Given the description of an element on the screen output the (x, y) to click on. 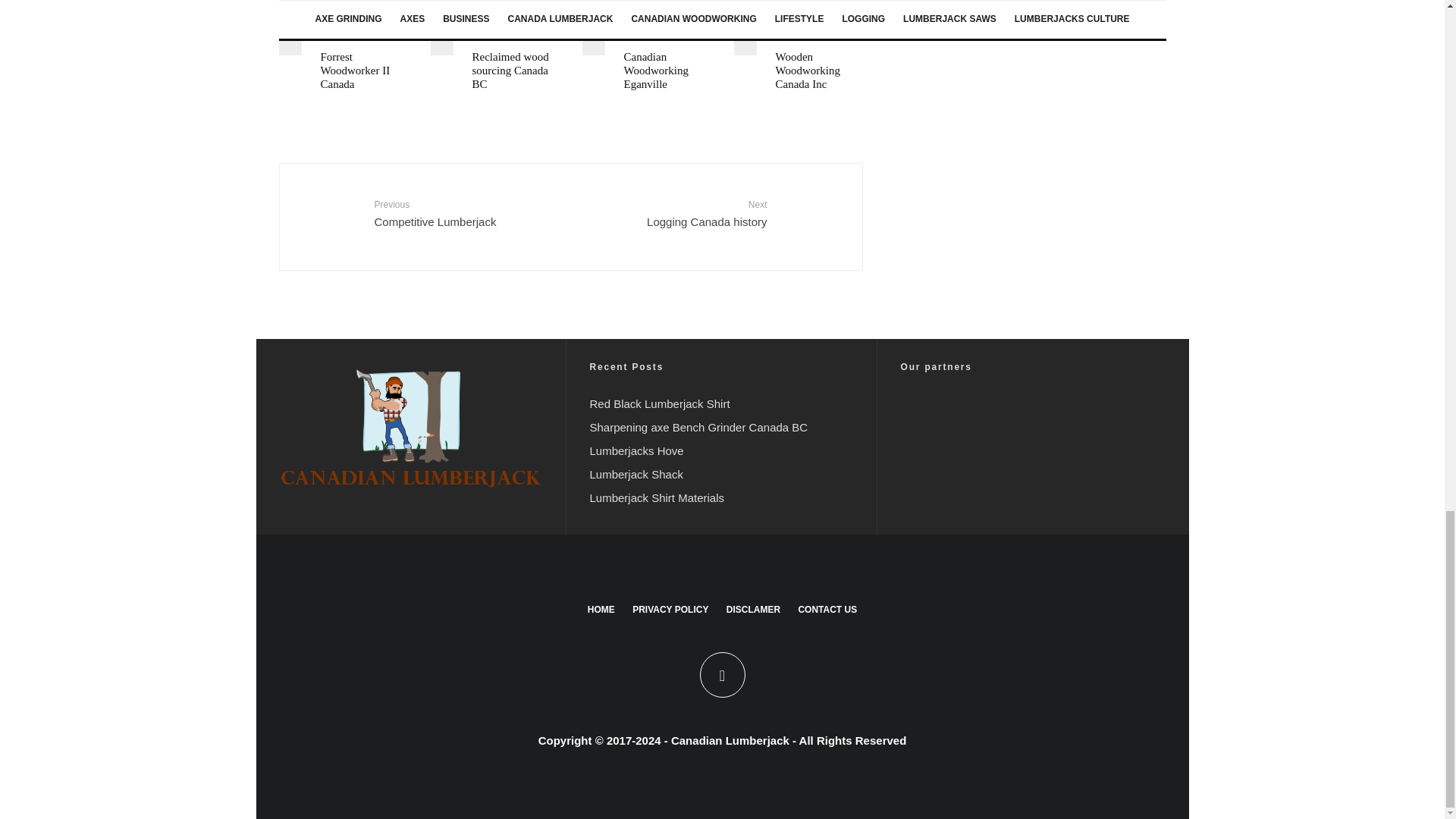
Canadian Woodworking (515, 27)
Forrest Woodworker II Canada (363, 69)
Canadian Woodworking (817, 27)
Canadian Woodworking (363, 27)
Reclaimed wood sourcing Canada BC (515, 69)
Canadian Woodworking Eganville (666, 69)
Canadian Woodworking (666, 27)
